Given the description of an element on the screen output the (x, y) to click on. 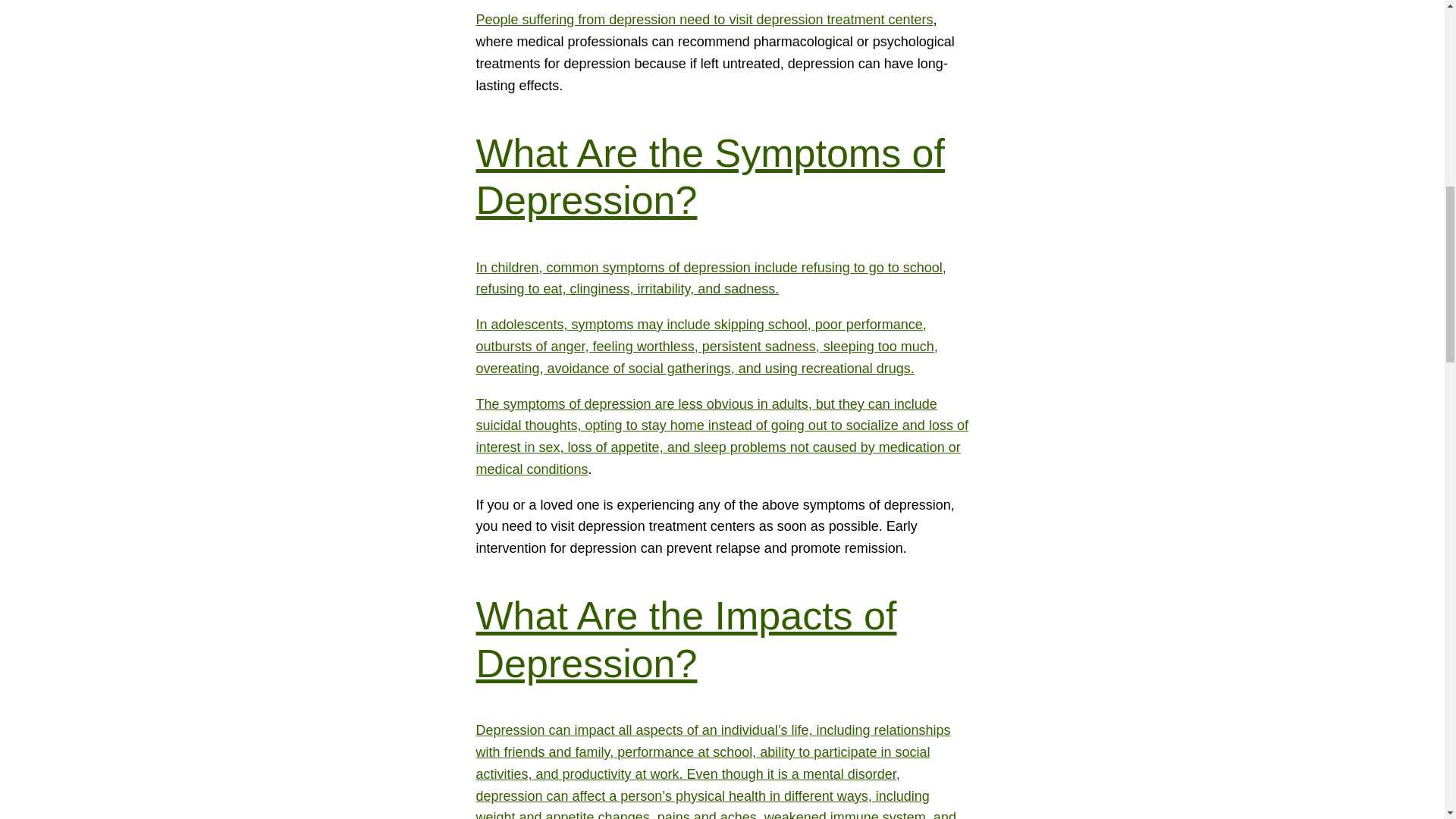
conditions (557, 468)
What Are the Impacts of Depression? (686, 638)
People suffering from depression need to visit (616, 19)
What Are the Symptoms of Depression? (710, 176)
depression treatment centers (844, 19)
